Given the description of an element on the screen output the (x, y) to click on. 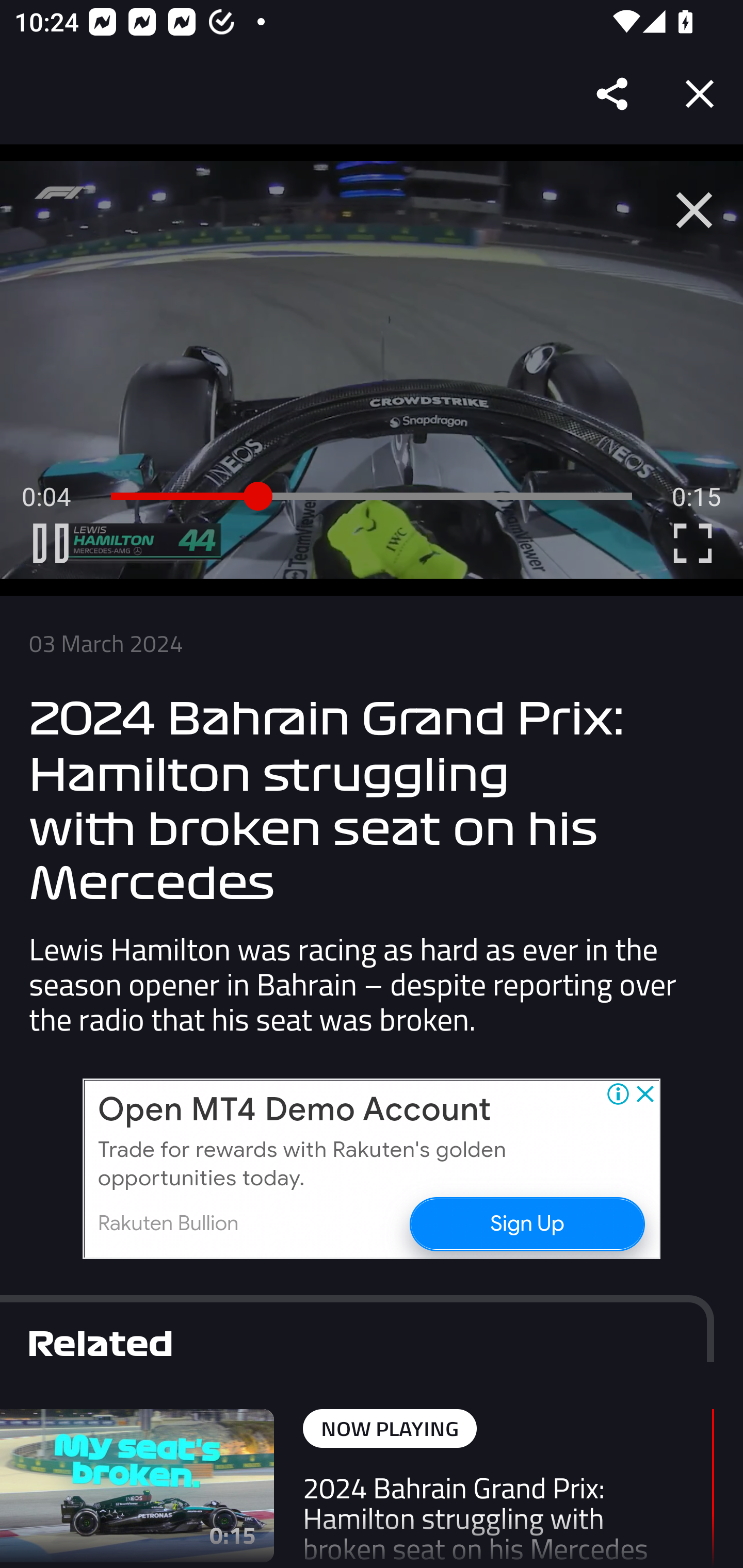
Share (612, 93)
Close (699, 93)
 Close (693, 210)
B Pause (50, 543)
C Enter Fullscreen (692, 543)
Open MT4 Demo Account (294, 1109)
Sign Up (526, 1222)
Rakuten Bullion (168, 1223)
